Given the description of an element on the screen output the (x, y) to click on. 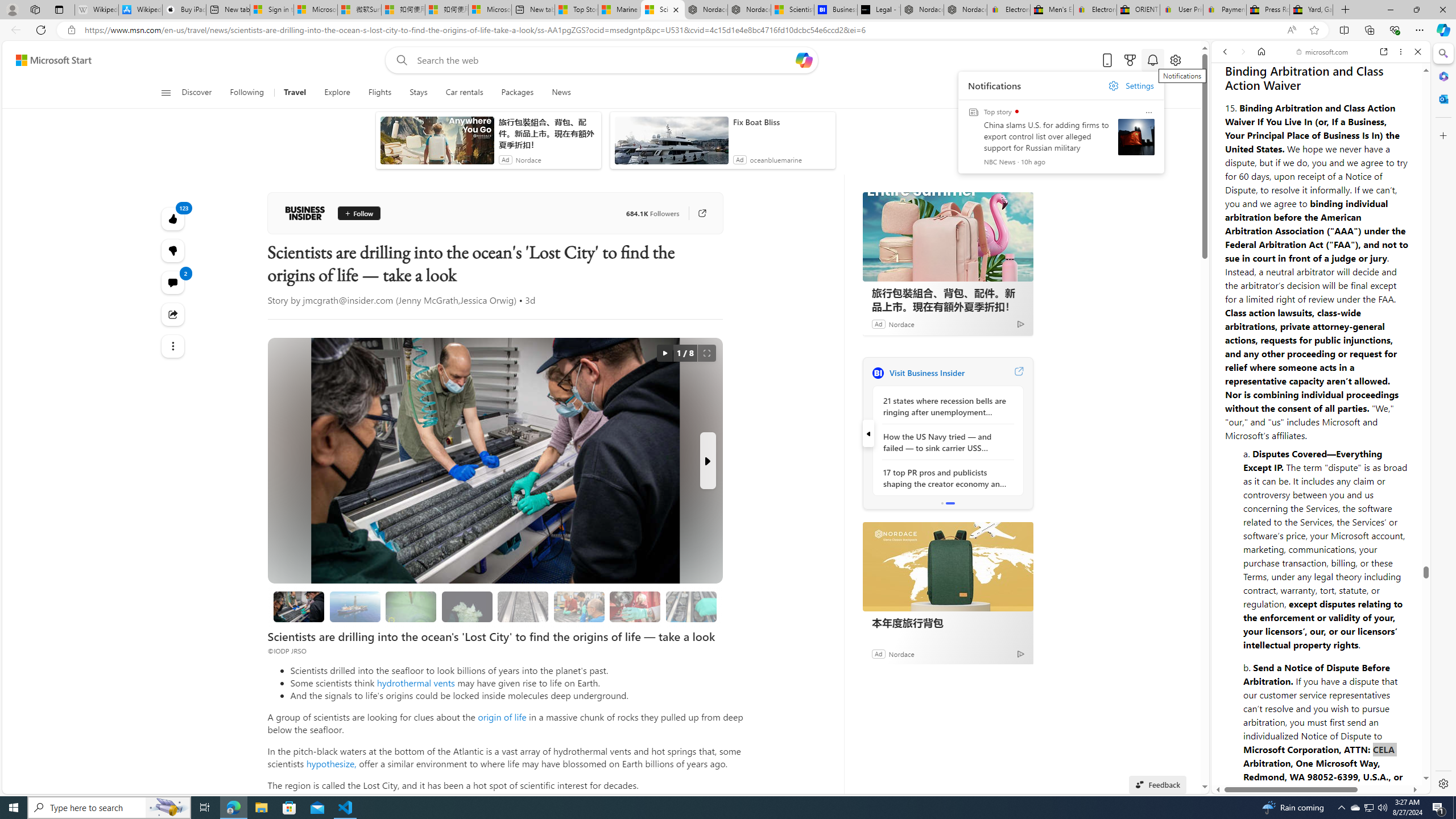
Stays (418, 92)
Microsoft Start (53, 60)
New tab (532, 9)
Travel (295, 92)
Web scope (1230, 102)
origin of life (502, 716)
Discover (201, 92)
anim-content (671, 144)
Next Slide (707, 460)
Outlook (1442, 98)
Researchers are still studying the samples (690, 606)
Nordace - Summer Adventures 2024 (922, 9)
